Given the description of an element on the screen output the (x, y) to click on. 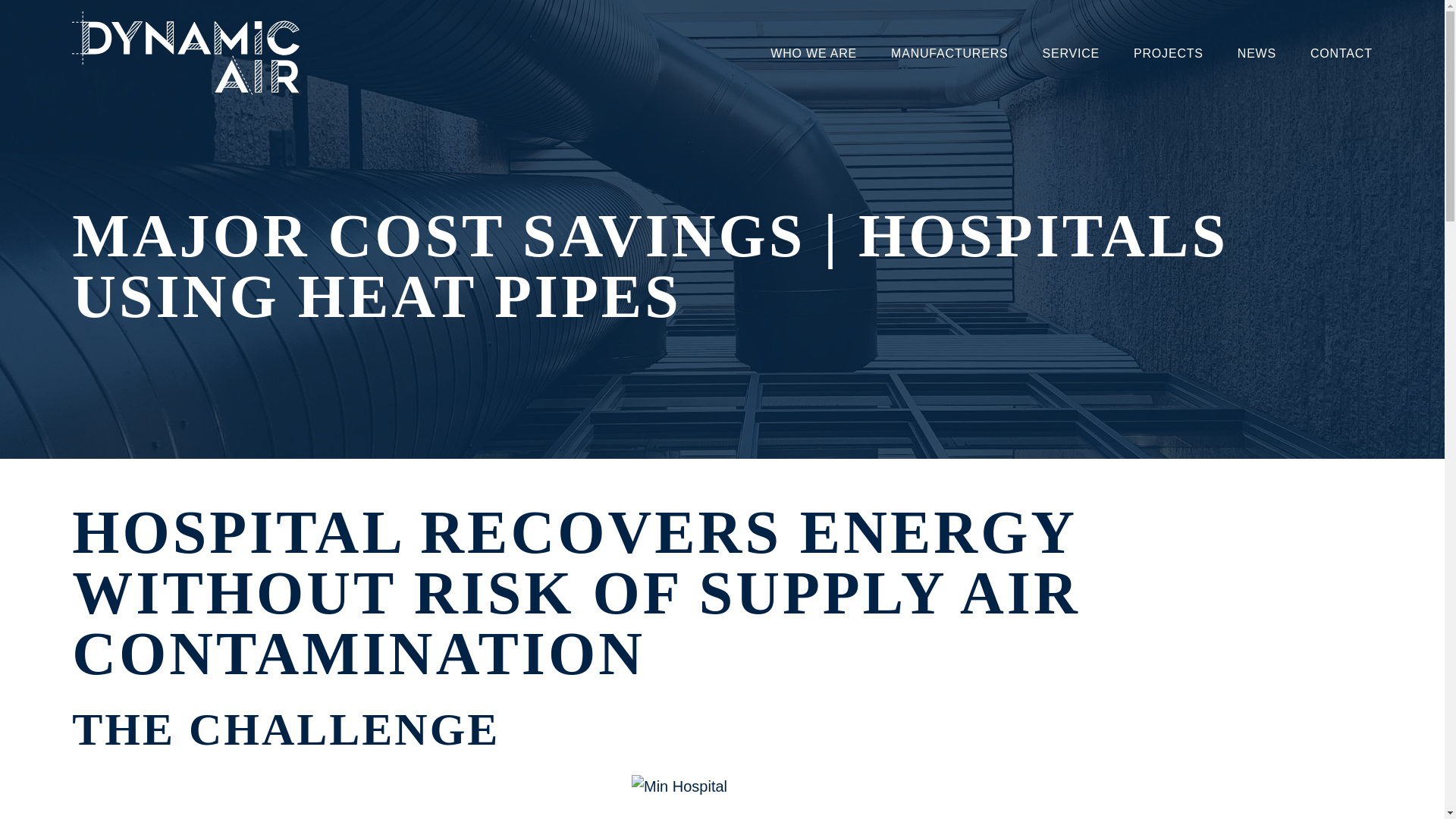
MANUFACTURERS (949, 53)
NEWS (1256, 53)
CONTACT (1341, 53)
WHO WE ARE (812, 53)
SERVICE (1070, 53)
PROJECTS (1168, 53)
